Given the description of an element on the screen output the (x, y) to click on. 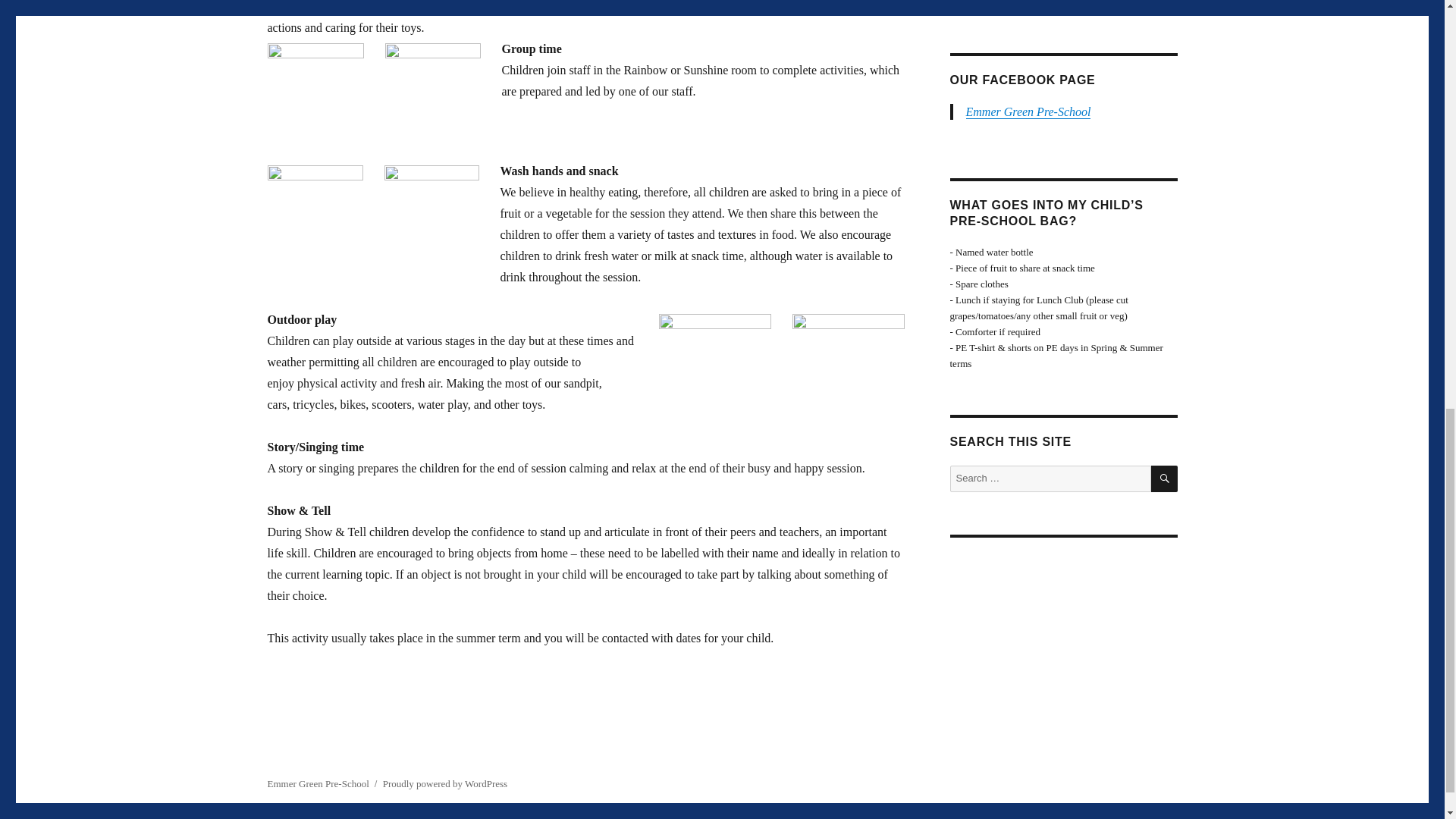
Emmer Green Pre-School (1028, 111)
SEARCH (1164, 479)
